Given the description of an element on the screen output the (x, y) to click on. 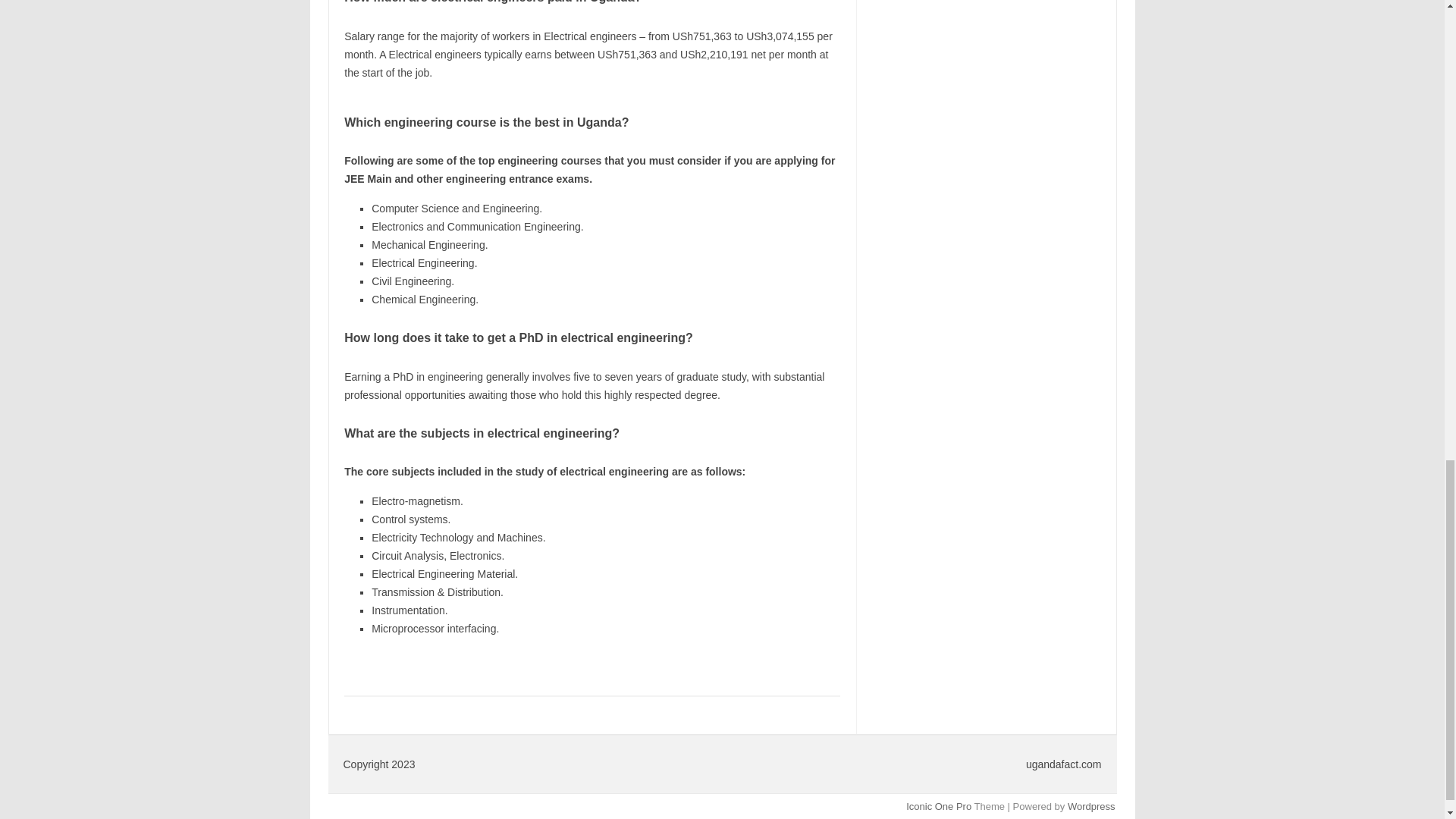
Wordpress (1091, 806)
Iconic One Pro (938, 806)
Advertisement (986, 38)
